Given the description of an element on the screen output the (x, y) to click on. 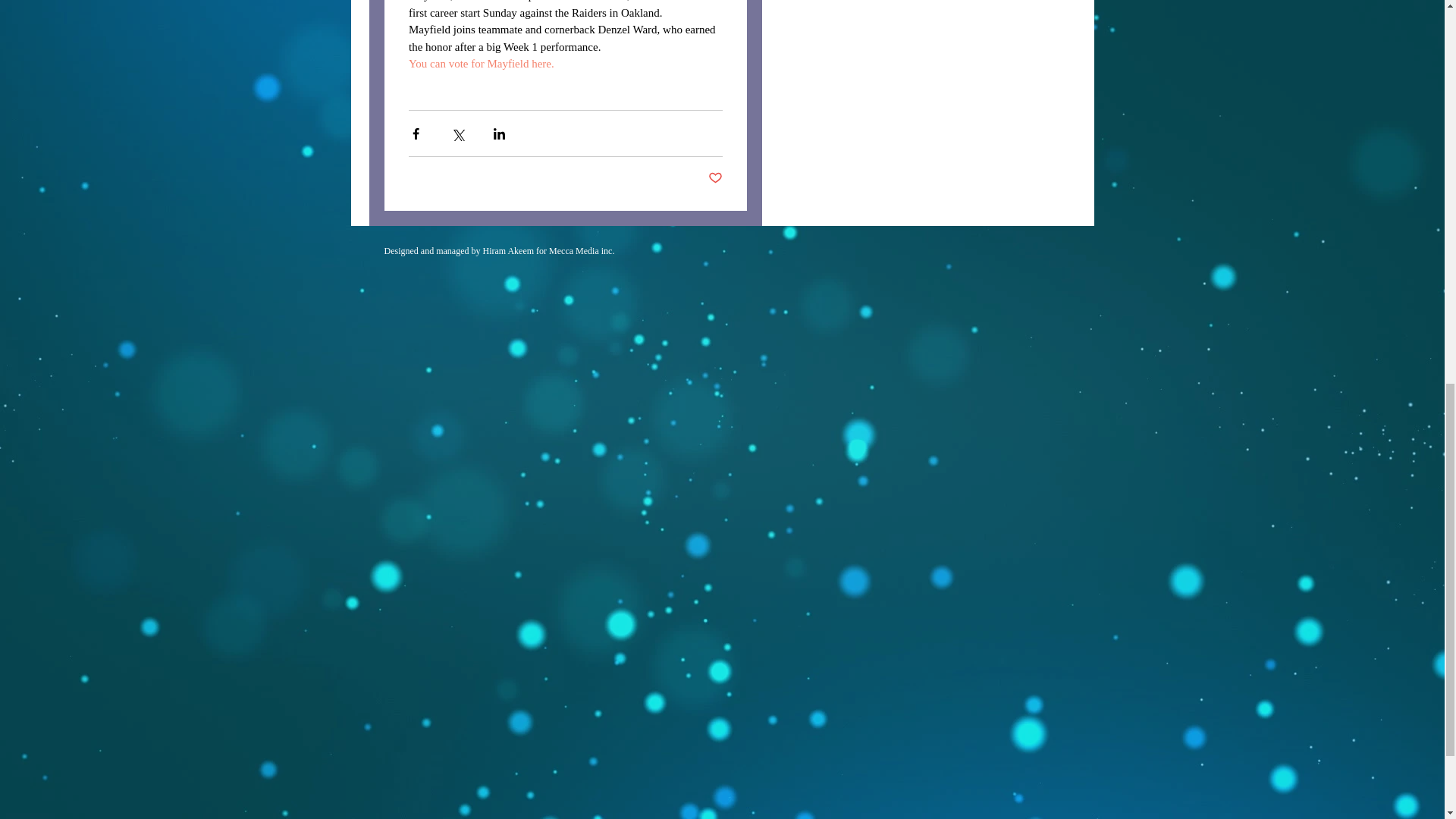
You can vote for Mayfield here.  (481, 63)
Post not marked as liked (714, 178)
